Given the description of an element on the screen output the (x, y) to click on. 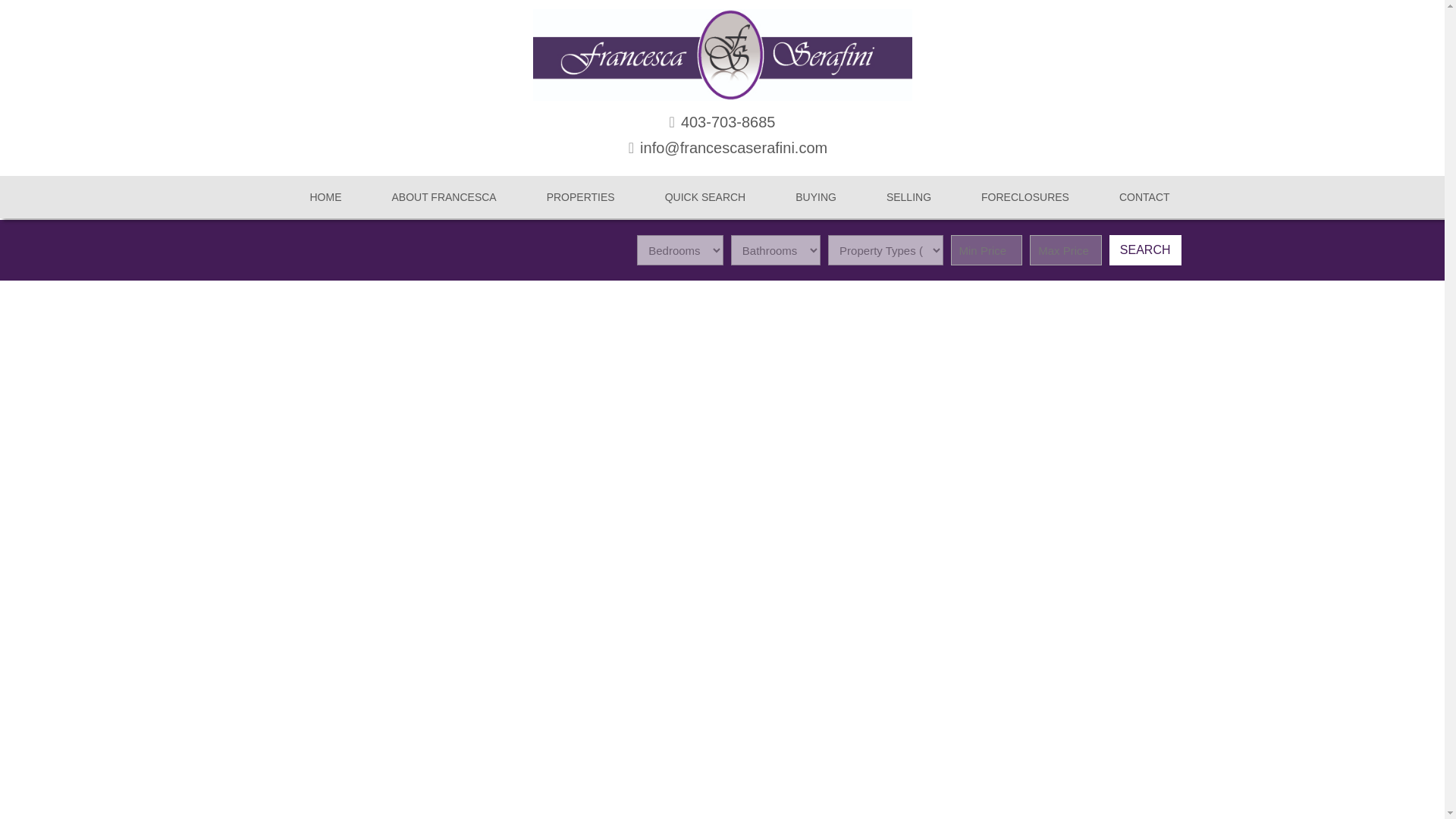
CONTACT (1127, 197)
SEARCH (1144, 250)
PROPERTIES (563, 197)
BUYING (798, 197)
HOME (307, 197)
QUICK SEARCH (688, 197)
SELLING (891, 197)
ABOUT FRANCESCA (426, 197)
FORECLOSURES (1008, 197)
